Given the description of an element on the screen output the (x, y) to click on. 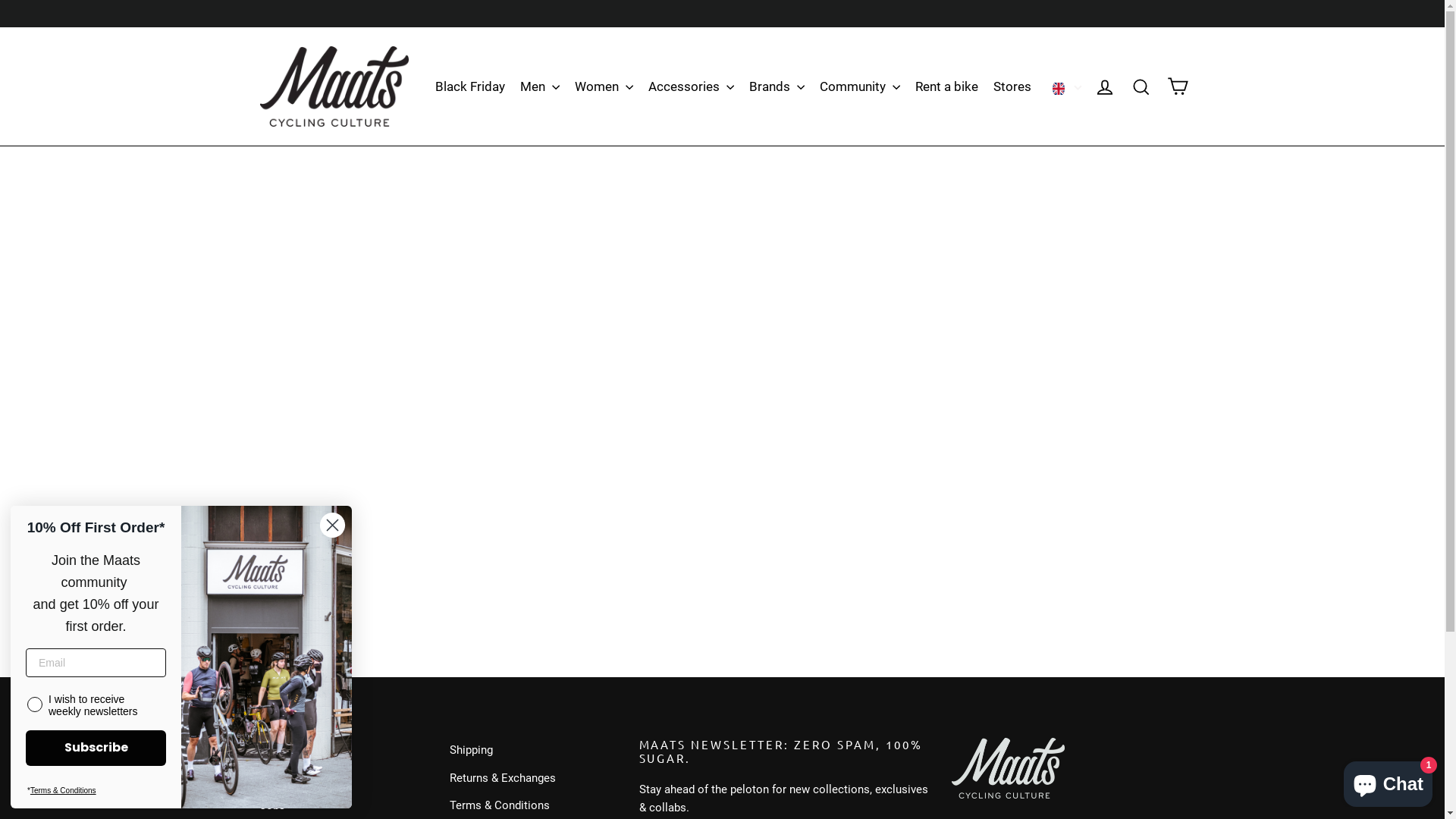
Submit Element type: text (28, 17)
Men Element type: text (539, 86)
Shipping Element type: text (531, 749)
Brands Element type: text (776, 86)
Community Element type: text (859, 86)
Rent a bike Element type: text (946, 86)
Maats Stores Element type: text (342, 749)
Stores Element type: text (1012, 86)
Black Friday Element type: text (470, 86)
Shopify online store chat Element type: hover (1388, 780)
Jobs Element type: text (342, 805)
Women Element type: text (603, 86)
Terms & Conditions Element type: text (63, 790)
About us Element type: text (342, 777)
Accessories Element type: text (691, 86)
Subscribe Element type: text (95, 747)
Returns & Exchanges Element type: text (531, 777)
Terms & Conditions Element type: text (531, 805)
Skip to content Element type: text (0, 0)
